Given the description of an element on the screen output the (x, y) to click on. 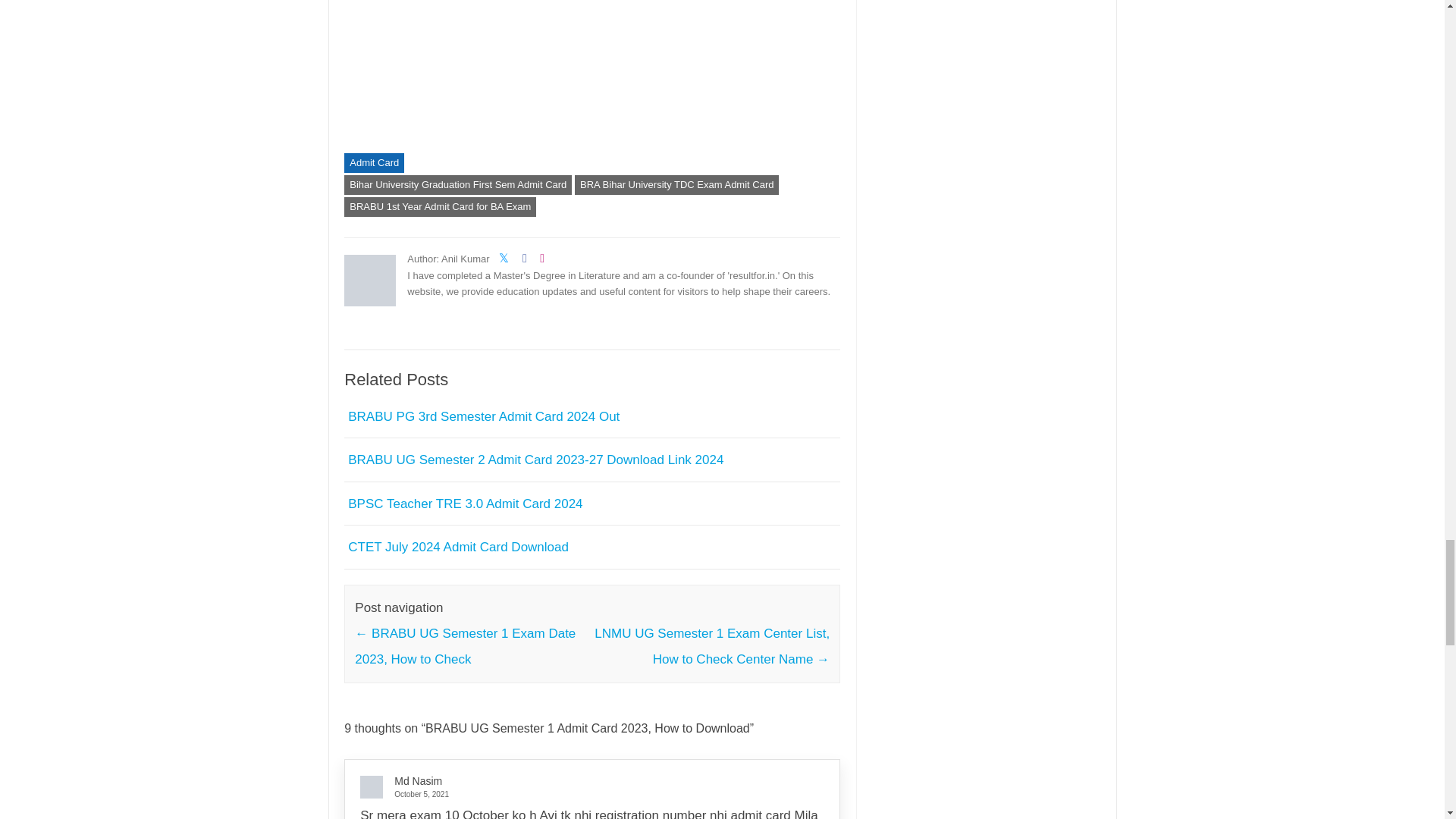
BRA Bihar University TDC Exam Admit Card (676, 184)
CTET July 2024 Admit Card Download (458, 546)
Bihar University Graduation First Sem Admit Card (457, 184)
Admit Card (373, 162)
BPSC Teacher TRE 3.0 Admit Card 2024 (464, 503)
BRABU 1st Year Admit Card for BA Exam (439, 207)
BRABU PG 3rd Semester Admit Card 2024 Out (483, 416)
October 5, 2021 (585, 793)
BRABU UG Semester 2 Admit Card 2023-27 Download Link 2024 (535, 459)
